Given the description of an element on the screen output the (x, y) to click on. 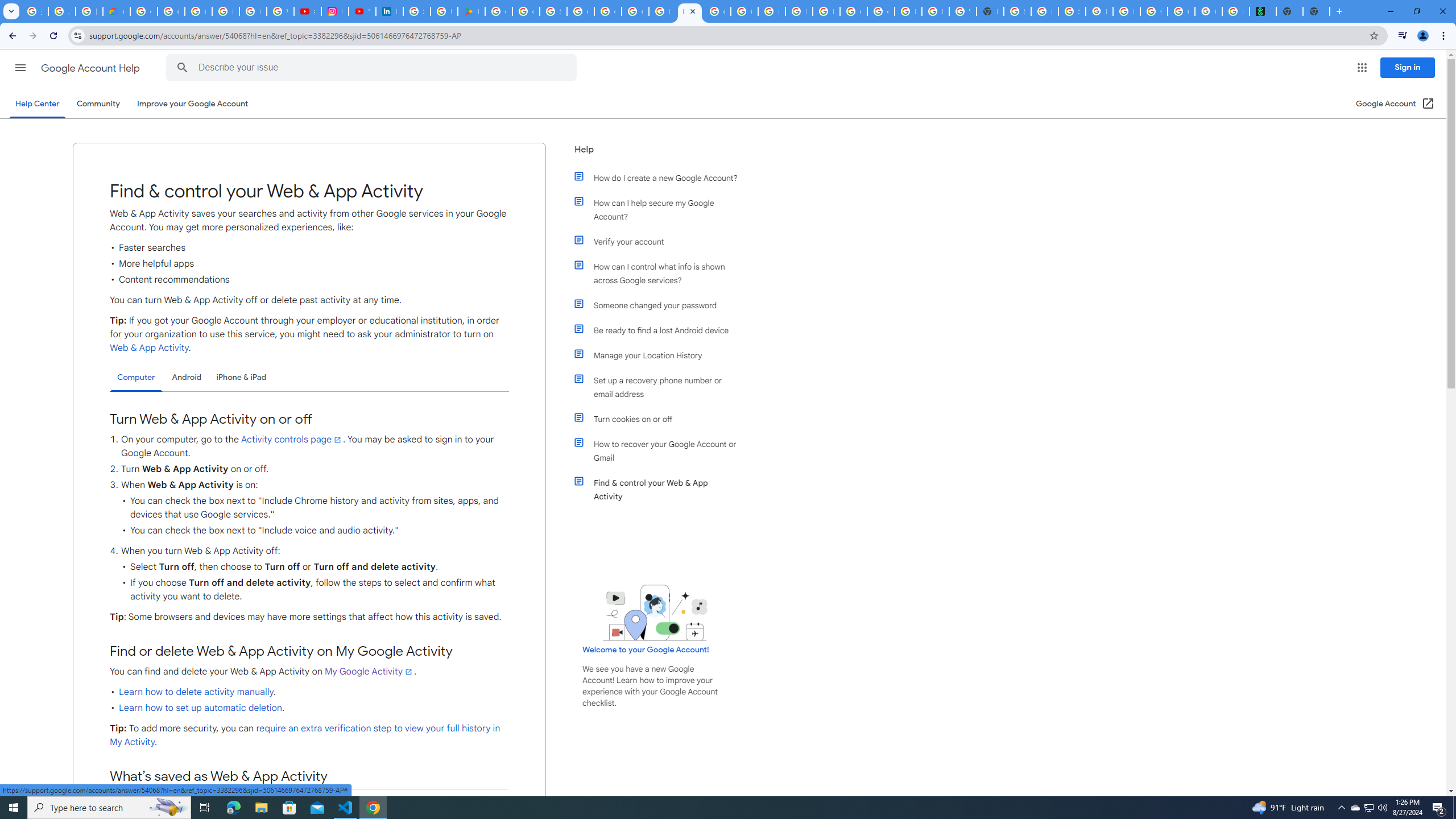
Google Cloud Platform (880, 11)
Improve your Google Account (192, 103)
Google Account Help (91, 68)
Welcome to your Google Account! (645, 649)
Find & control your Web & App Activity (661, 489)
Search Help Center (181, 67)
